Given the description of an element on the screen output the (x, y) to click on. 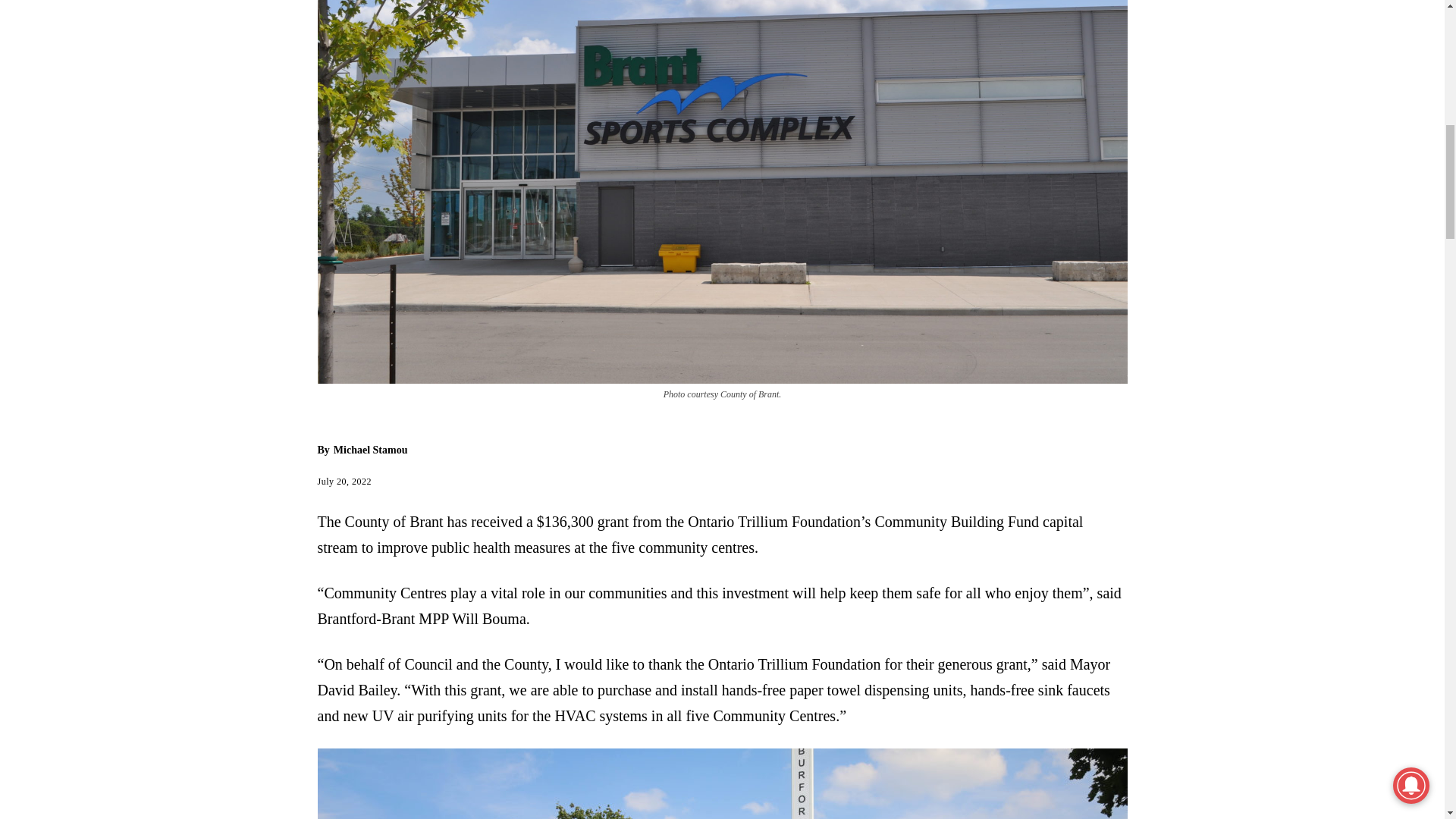
Michael Stamou (370, 449)
